Given the description of an element on the screen output the (x, y) to click on. 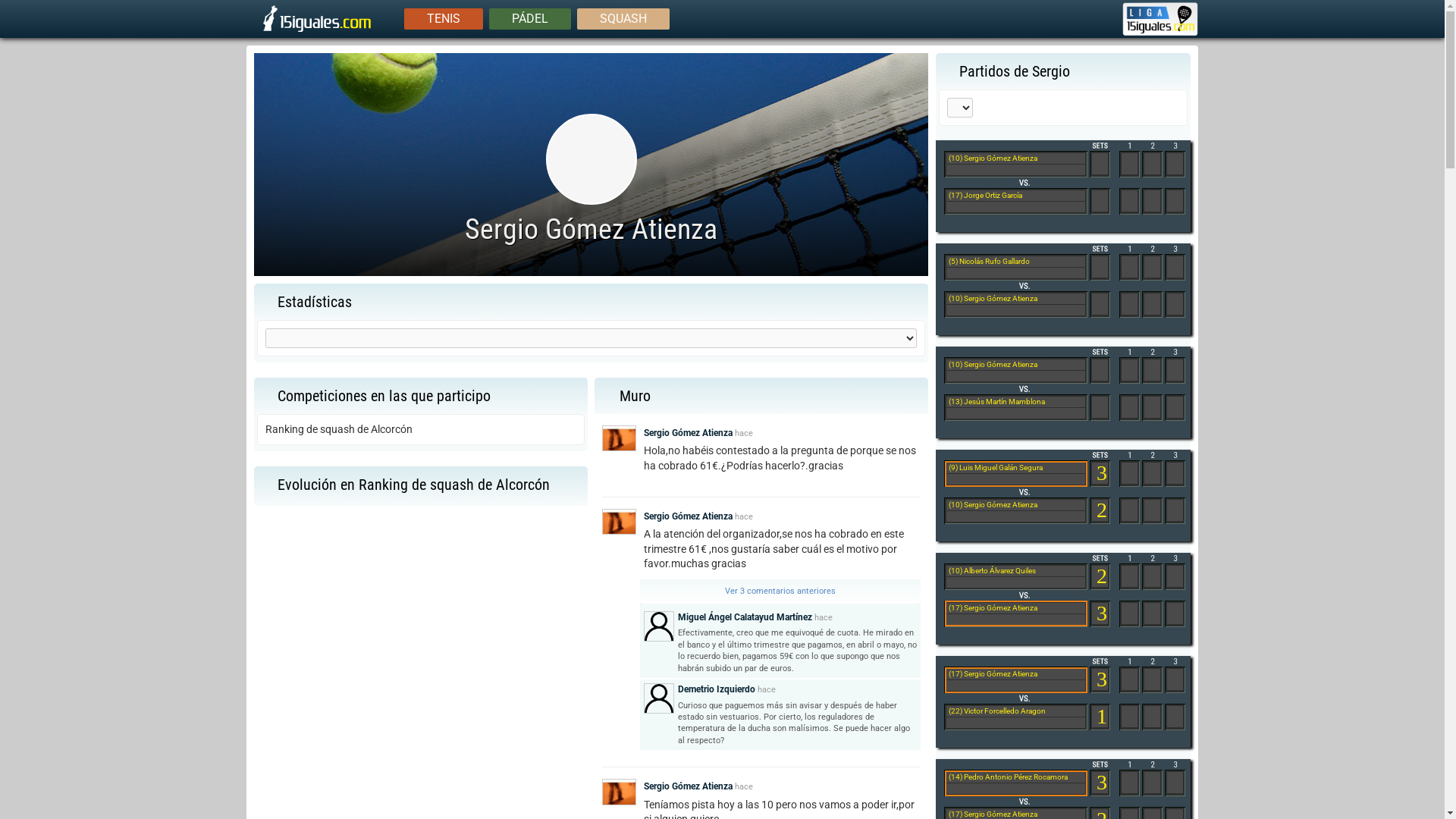
SQUASH Element type: text (622, 18)
Accede a 15iguales.com Element type: hover (1424, 18)
TENIS Element type: text (443, 18)
Ver 3 comentarios anteriores Element type: text (779, 591)
15iguales.com Element type: hover (317, 29)
Demetrio Izquierdo Element type: text (716, 689)
